Given the description of an element on the screen output the (x, y) to click on. 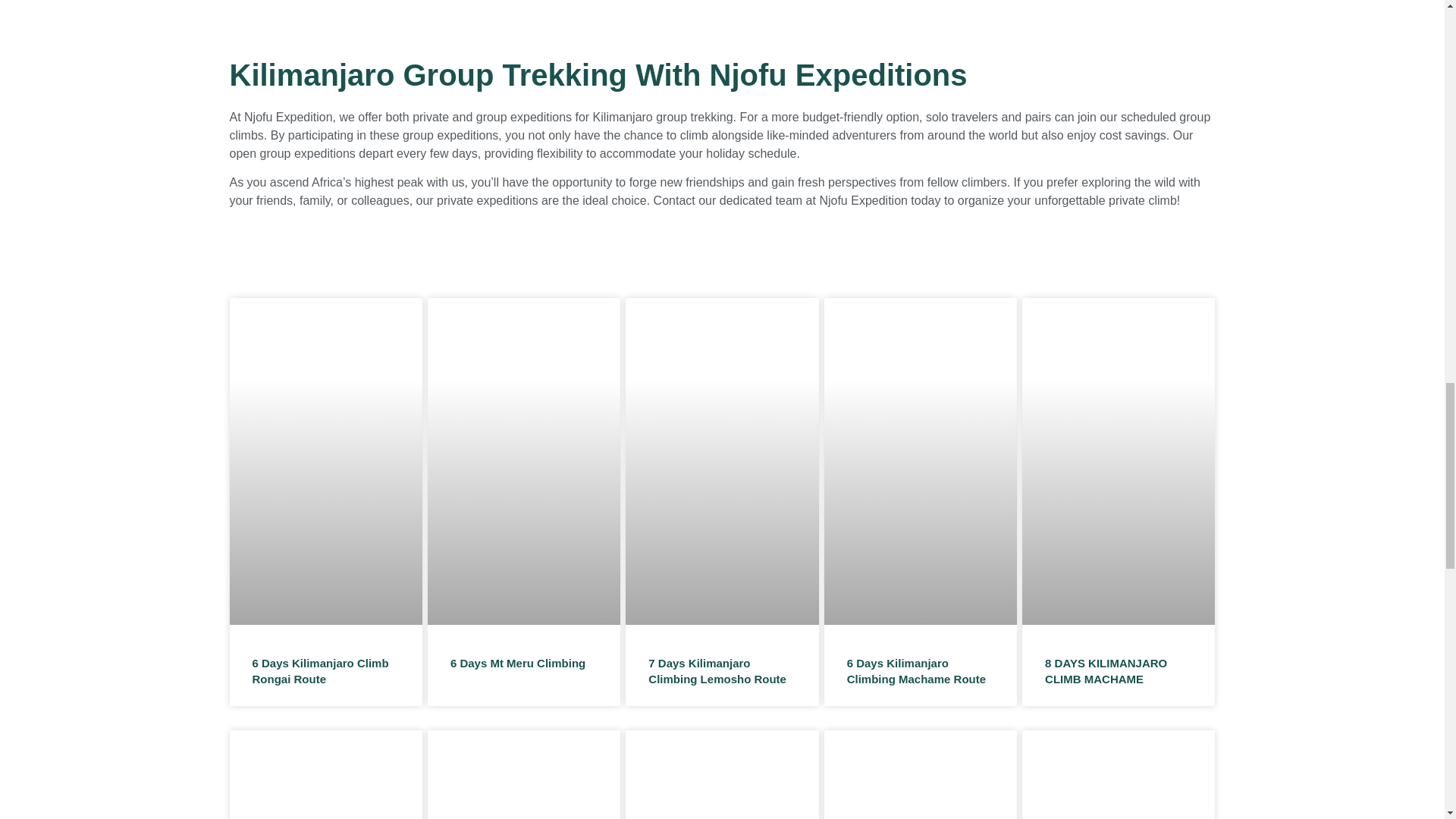
6 Days Kilimanjaro Climbing Machame Route (916, 670)
6 Days Kilimanjaro Climb Rongai Route (319, 670)
7 Days Kilimanjaro Climbing Lemosho Route (716, 670)
6 Days Mt Meru Climbing (517, 662)
